Given the description of an element on the screen output the (x, y) to click on. 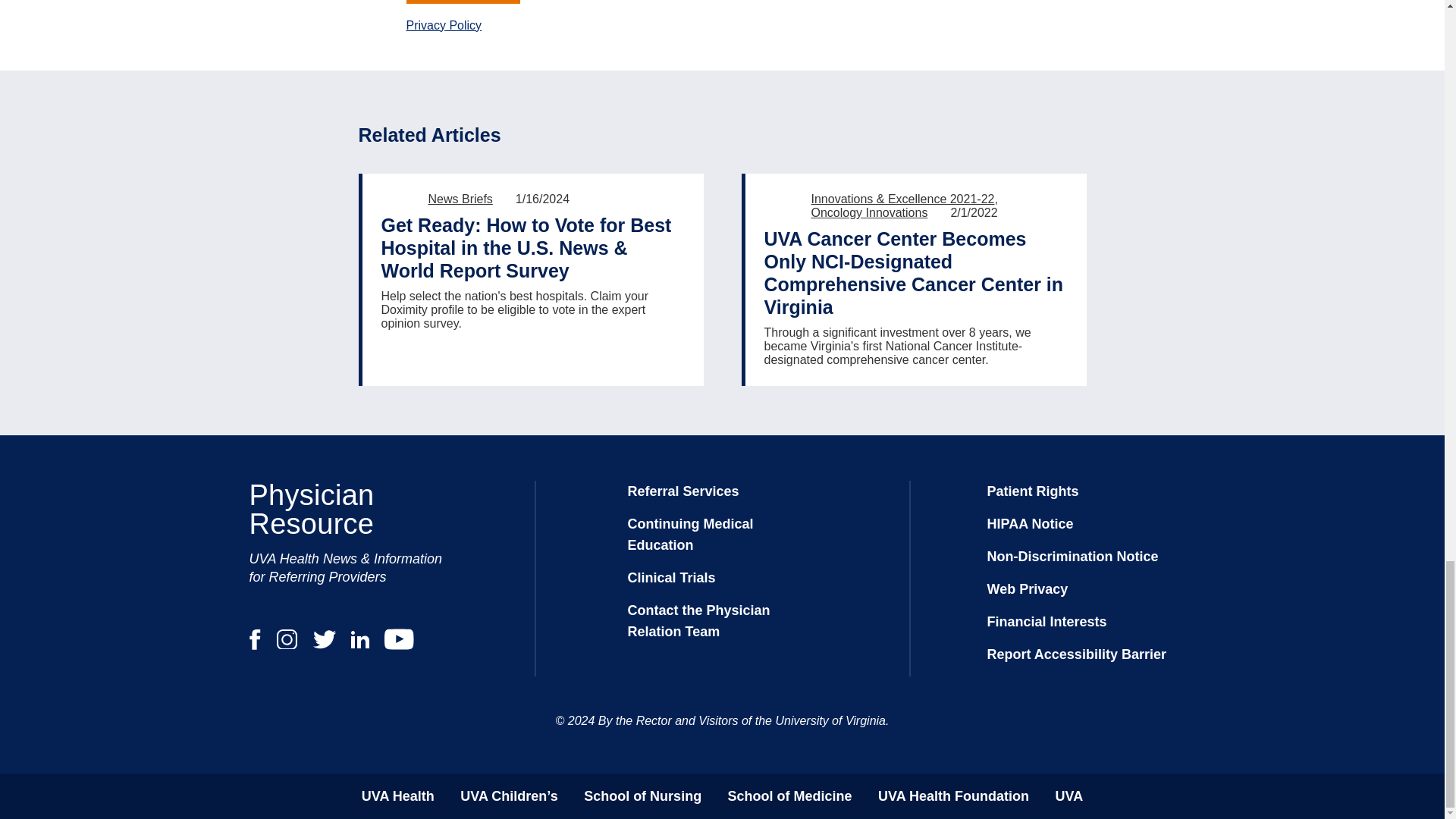
HIPAA Notice (1030, 523)
Non-Discrimination Notice (1072, 556)
Web Privacy (1027, 589)
Report Accessibility Barrier (1076, 654)
Contact the Physician Relation Team (698, 620)
Referral Services (683, 491)
Patient Rights (1032, 491)
Oncology Innovations (869, 212)
Submit (462, 1)
Financial Interests (1046, 621)
